Given the description of an element on the screen output the (x, y) to click on. 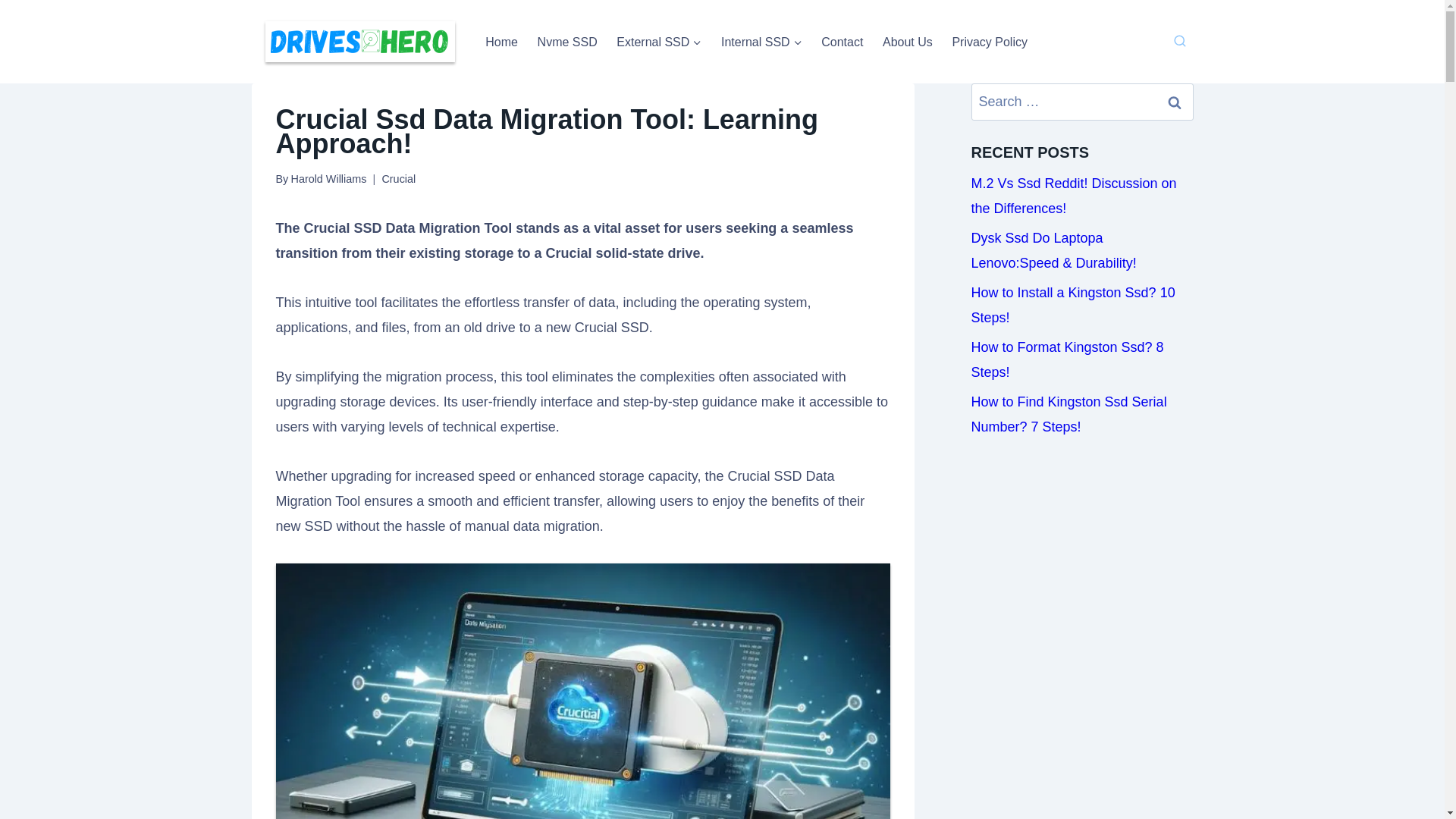
Contact (841, 41)
Nvme SSD (567, 41)
Harold Williams (327, 178)
Search (1174, 101)
Privacy Policy (989, 41)
Search (1174, 101)
Crucial (397, 178)
Internal SSD (760, 41)
Home (501, 41)
About Us (907, 41)
